Given the description of an element on the screen output the (x, y) to click on. 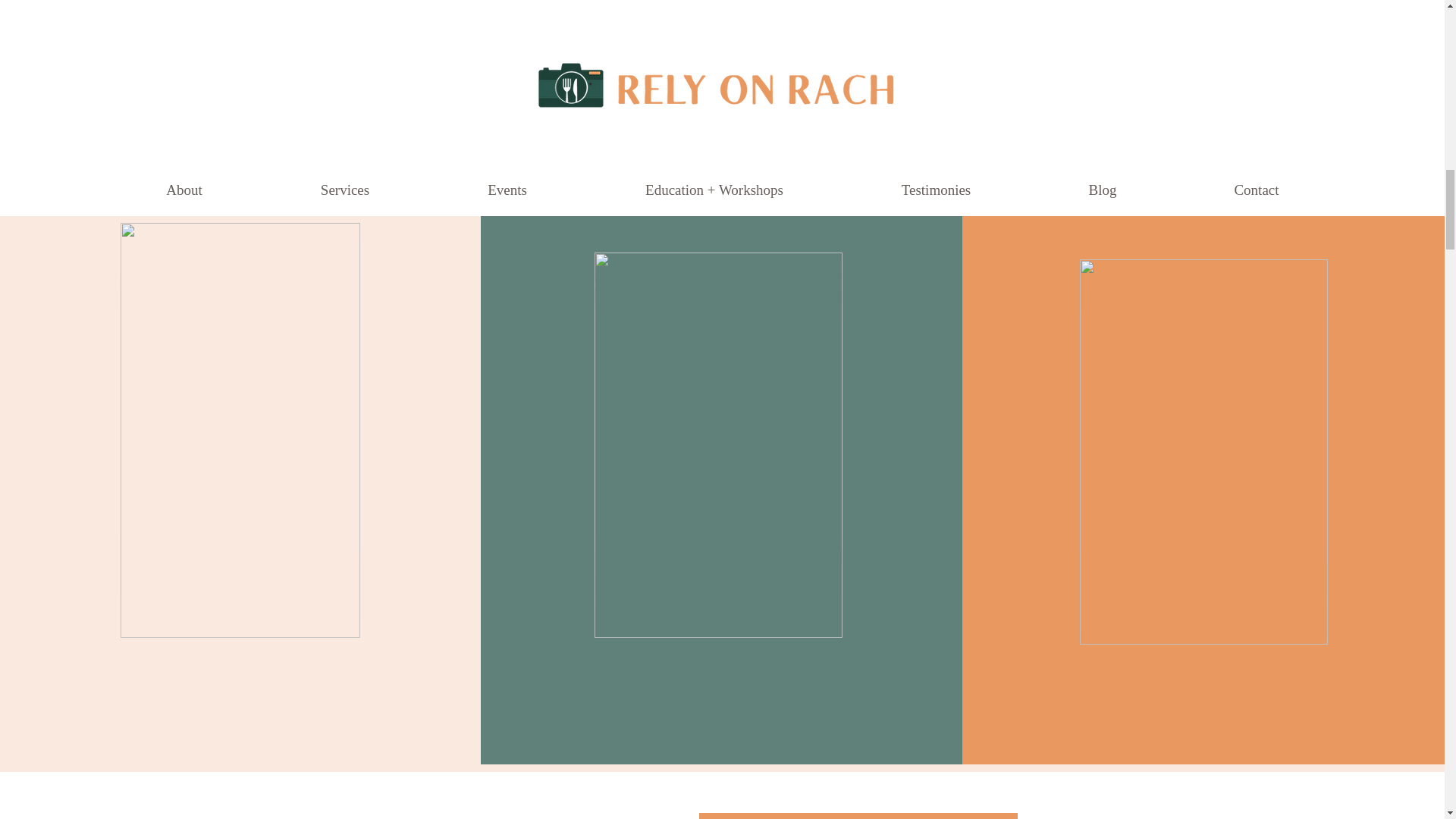
schedule your free clarity call (857, 816)
